Given the description of an element on the screen output the (x, y) to click on. 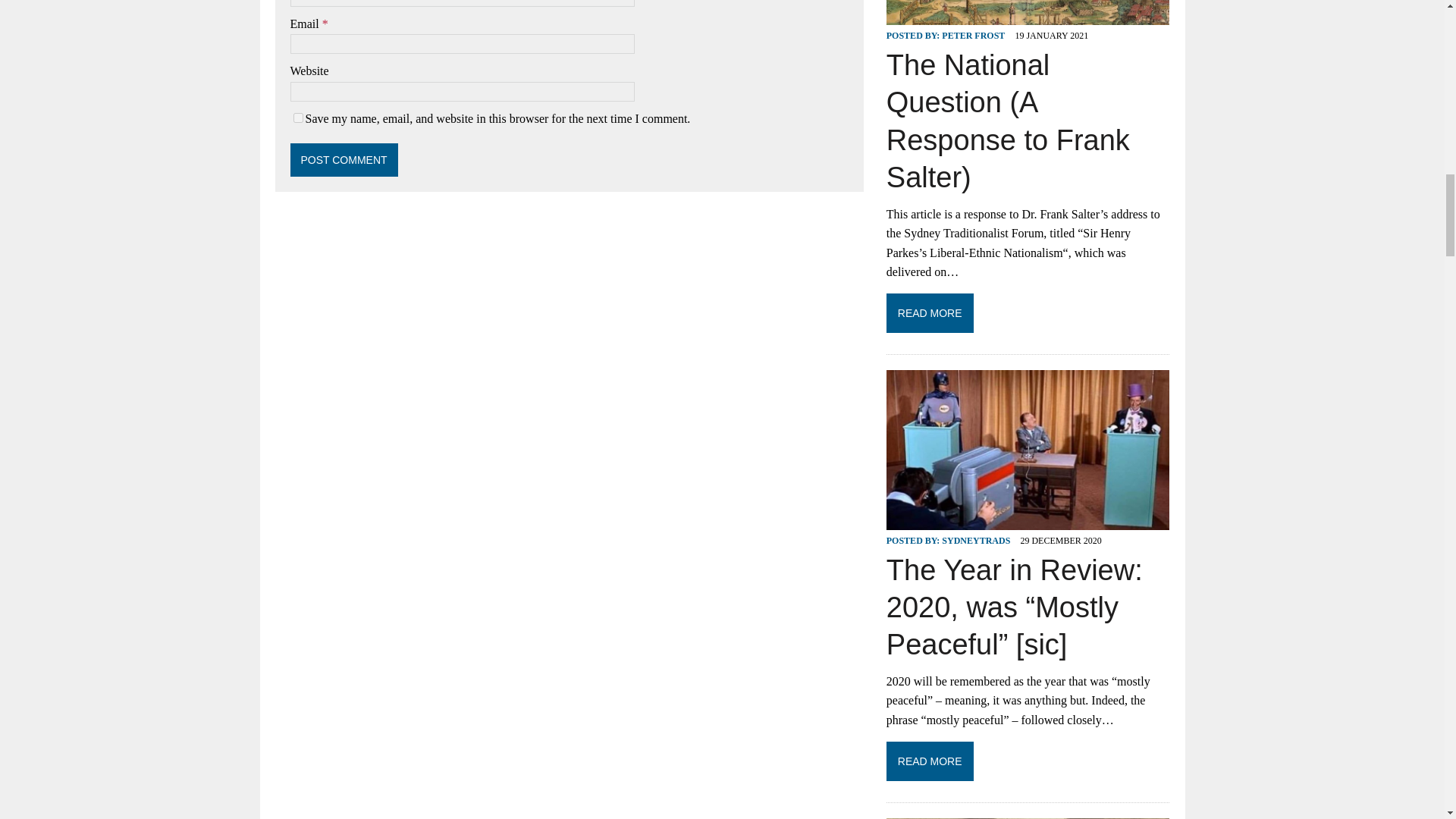
Post Comment (343, 159)
yes (297, 117)
